Given the description of an element on the screen output the (x, y) to click on. 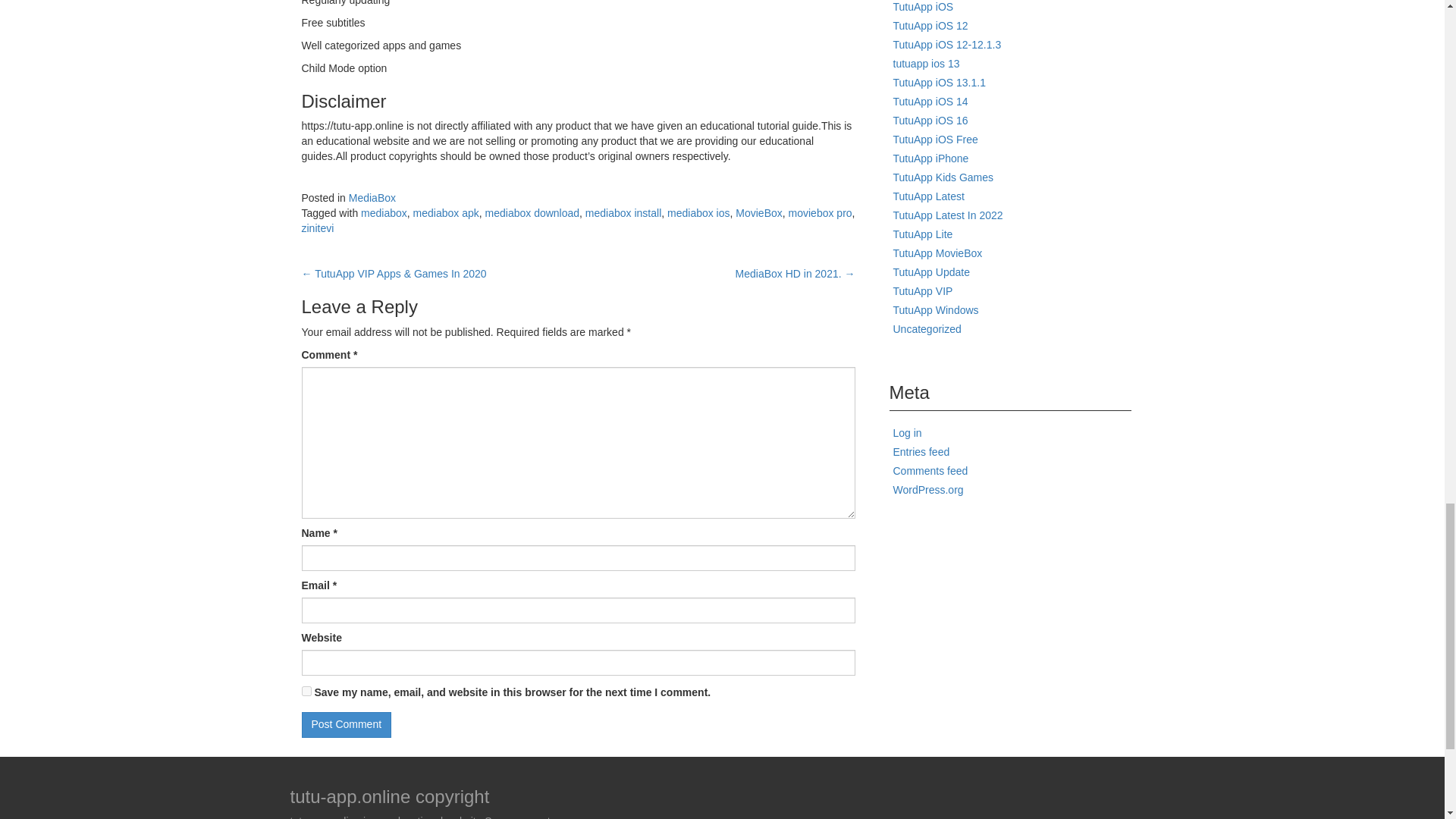
moviebox pro (820, 213)
MovieBox (758, 213)
mediabox ios (698, 213)
mediabox apk (446, 213)
mediabox download (531, 213)
MediaBox (372, 197)
mediabox install (623, 213)
mediabox (384, 213)
zinitevi (317, 227)
Post Comment (346, 724)
yes (306, 691)
